Given the description of an element on the screen output the (x, y) to click on. 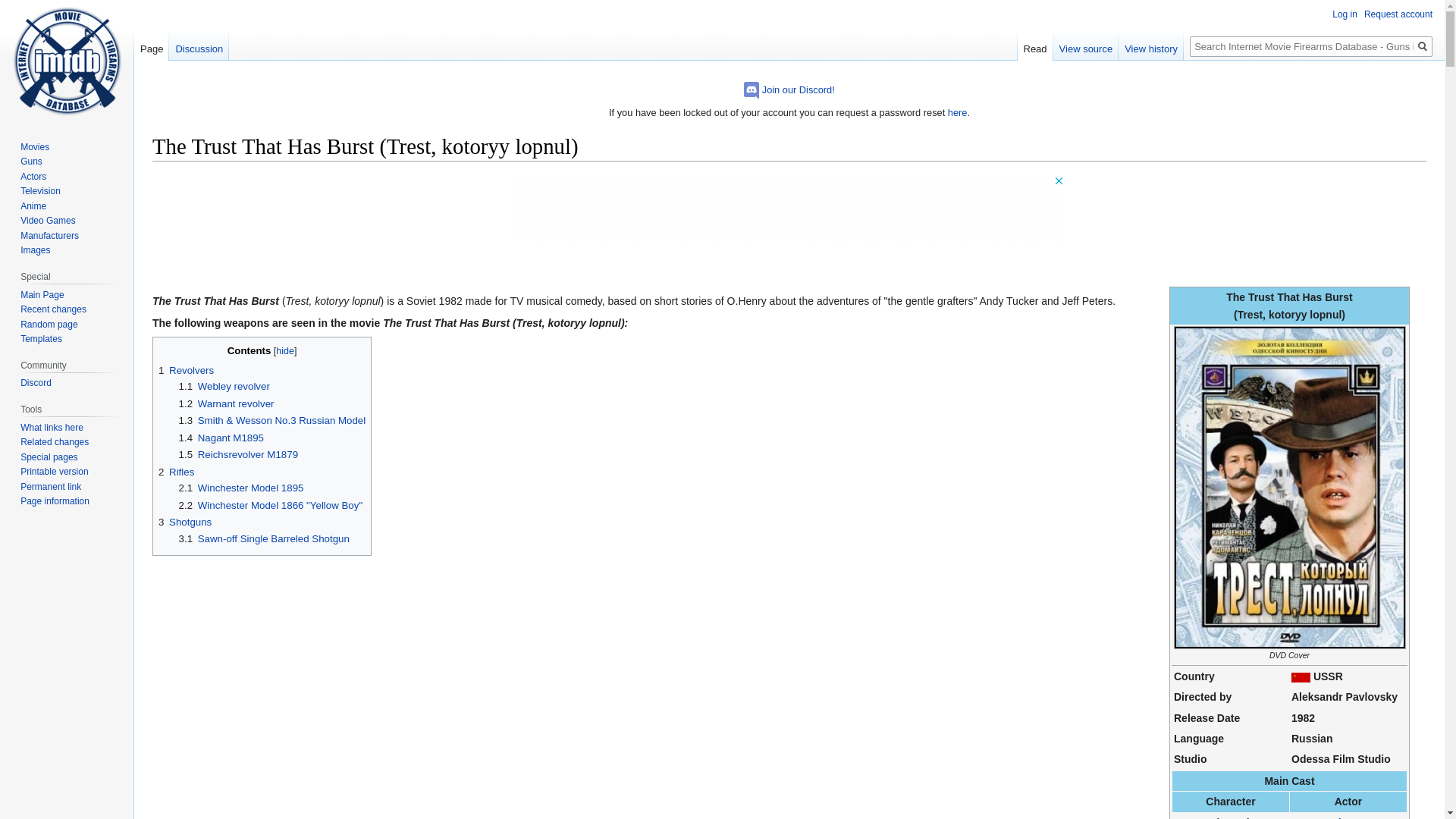
Regimantas Adomaitis (1347, 817)
2.1 Winchester Model 1895 (241, 487)
Search (1422, 46)
2 Rifles (175, 471)
Special:PasswordReset (957, 112)
2.2 Winchester Model 1866 "Yellow Boy" (270, 505)
1.4 Nagant M1895 (221, 437)
1.5 Reichsrevolver M1879 (238, 454)
here (957, 112)
Search (1422, 46)
1 Revolvers (186, 369)
3.1 Sawn-off Single Barreled Shotgun (264, 538)
Go (1422, 46)
Regimantas Adomaitis (1347, 817)
